Given the description of an element on the screen output the (x, y) to click on. 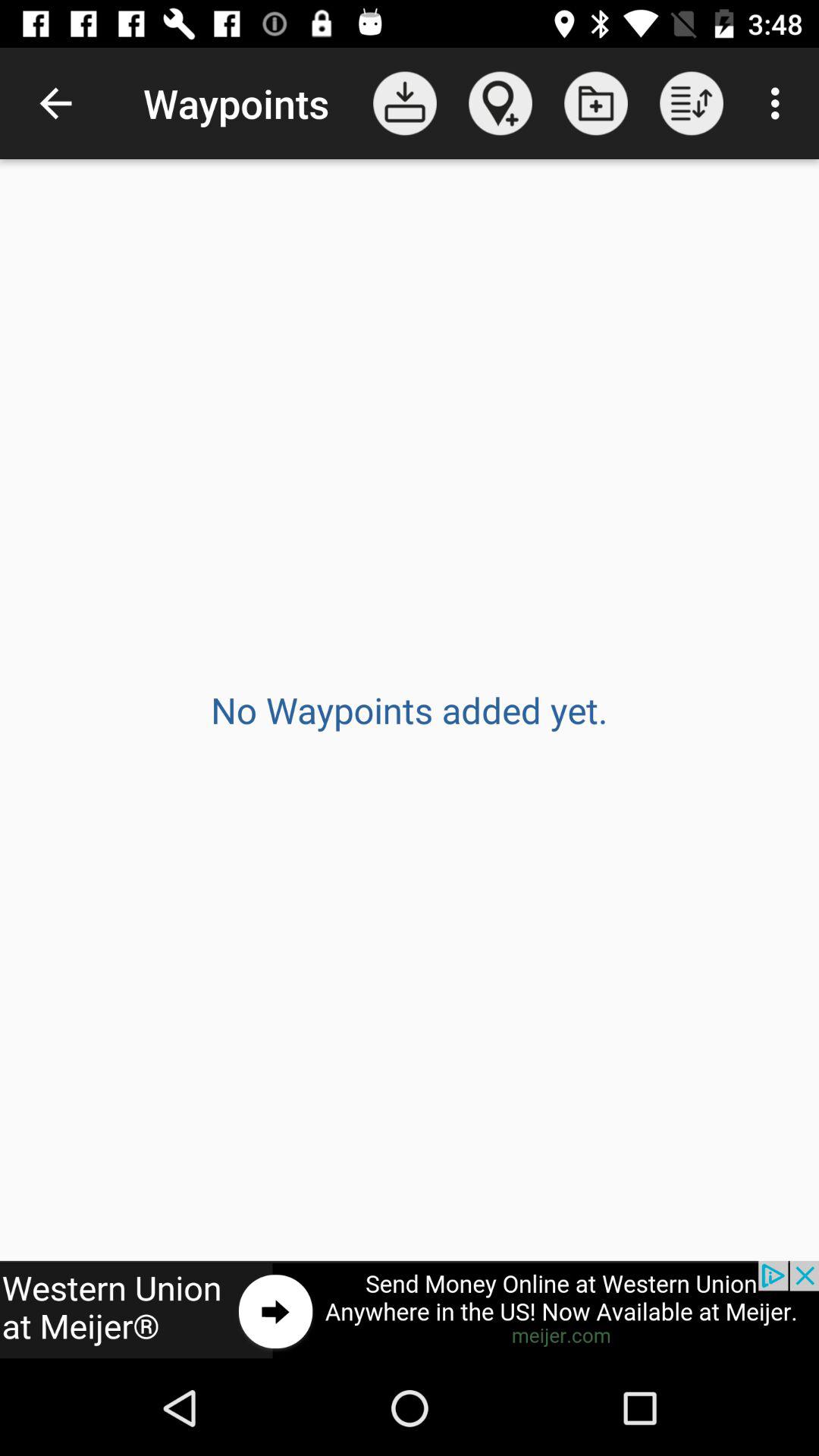
advertisement (409, 1310)
